Given the description of an element on the screen output the (x, y) to click on. 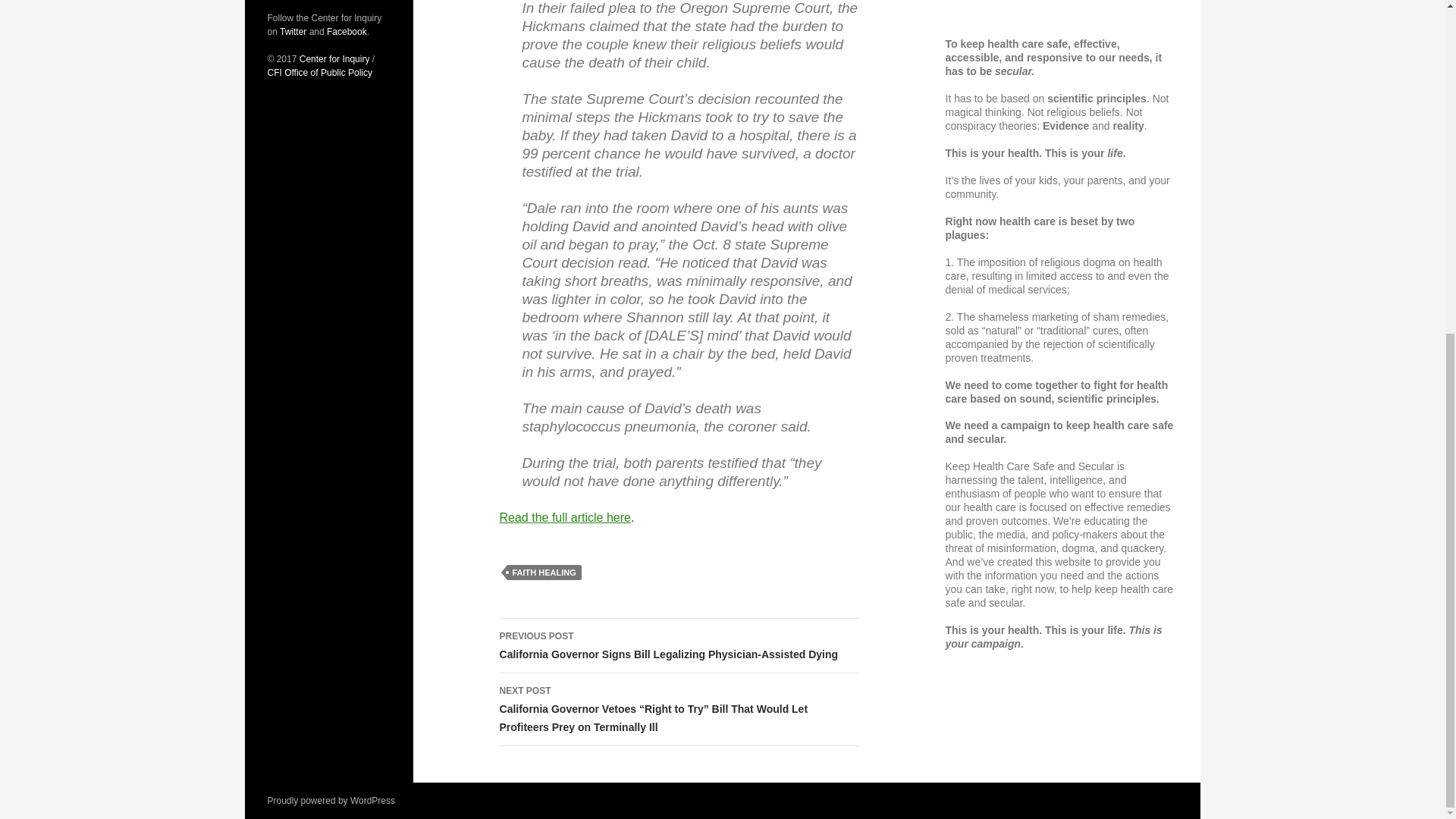
FAITH HEALING (543, 572)
Read the full article here (564, 517)
